Given the description of an element on the screen output the (x, y) to click on. 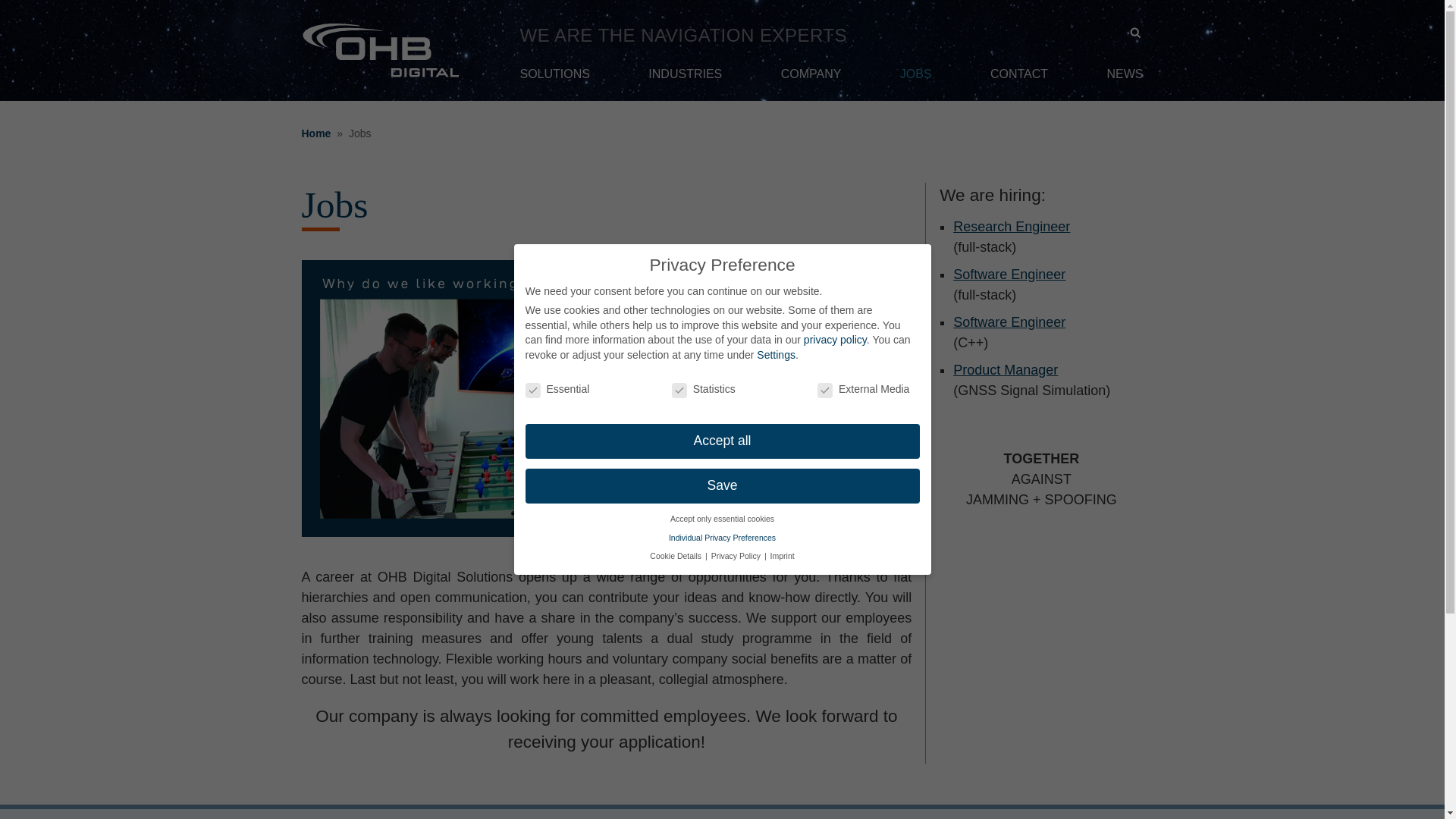
INDUSTRIES (684, 81)
SOLUTIONS (554, 81)
Software Engineer (1009, 273)
NEWS (1124, 81)
CONTACT (1019, 81)
Software Engineer (1009, 322)
COMPANY (810, 81)
Search (10, 9)
Home (317, 134)
Research Engineer (1011, 226)
